Given the description of an element on the screen output the (x, y) to click on. 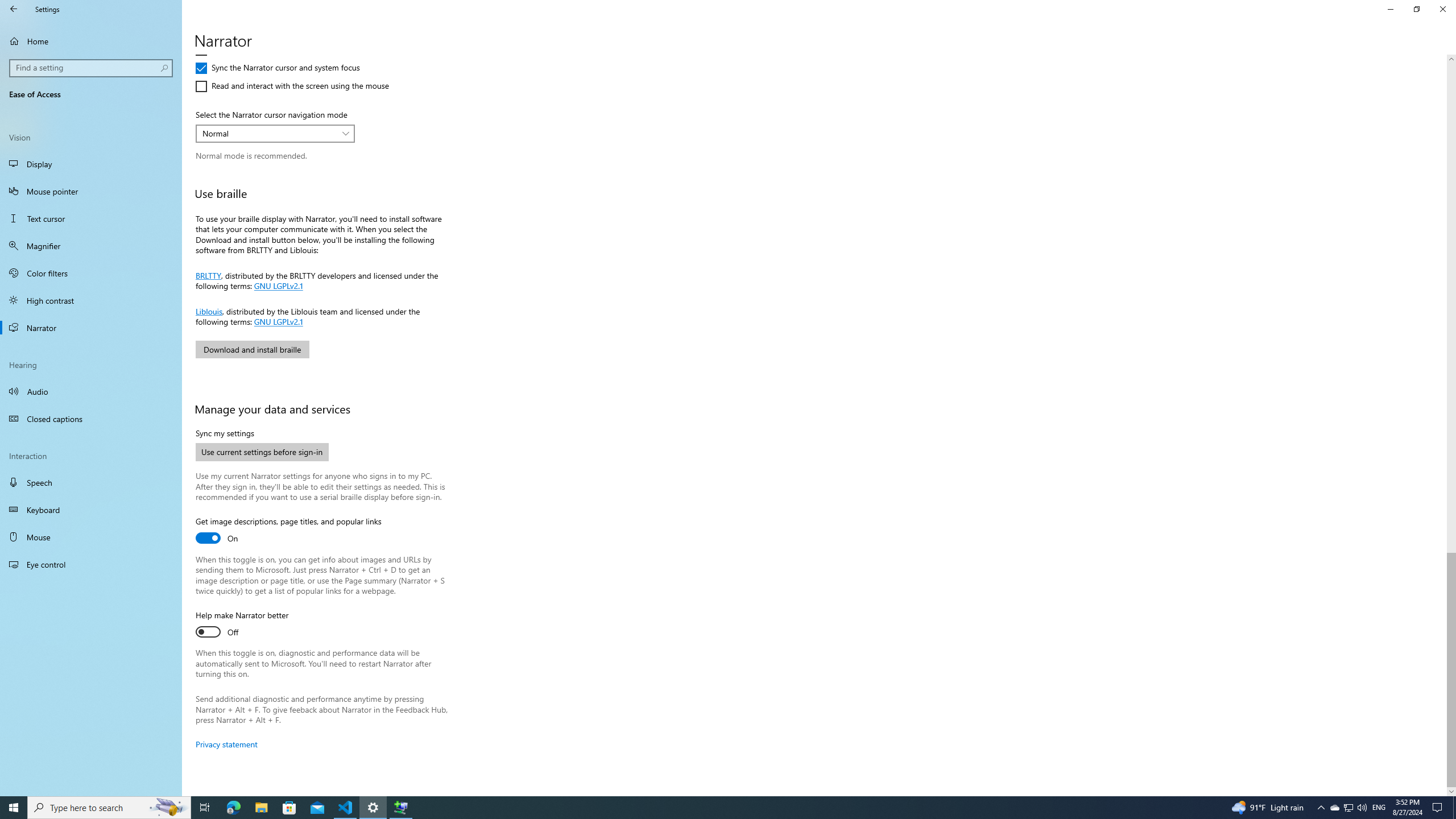
Eye control (91, 564)
Search box, Find a setting (91, 67)
Speech (91, 482)
Closed captions (91, 418)
Liblouis (208, 310)
Color filters (91, 272)
Narrator (91, 327)
Read and interact with the screen using the mouse (292, 85)
